Given the description of an element on the screen output the (x, y) to click on. 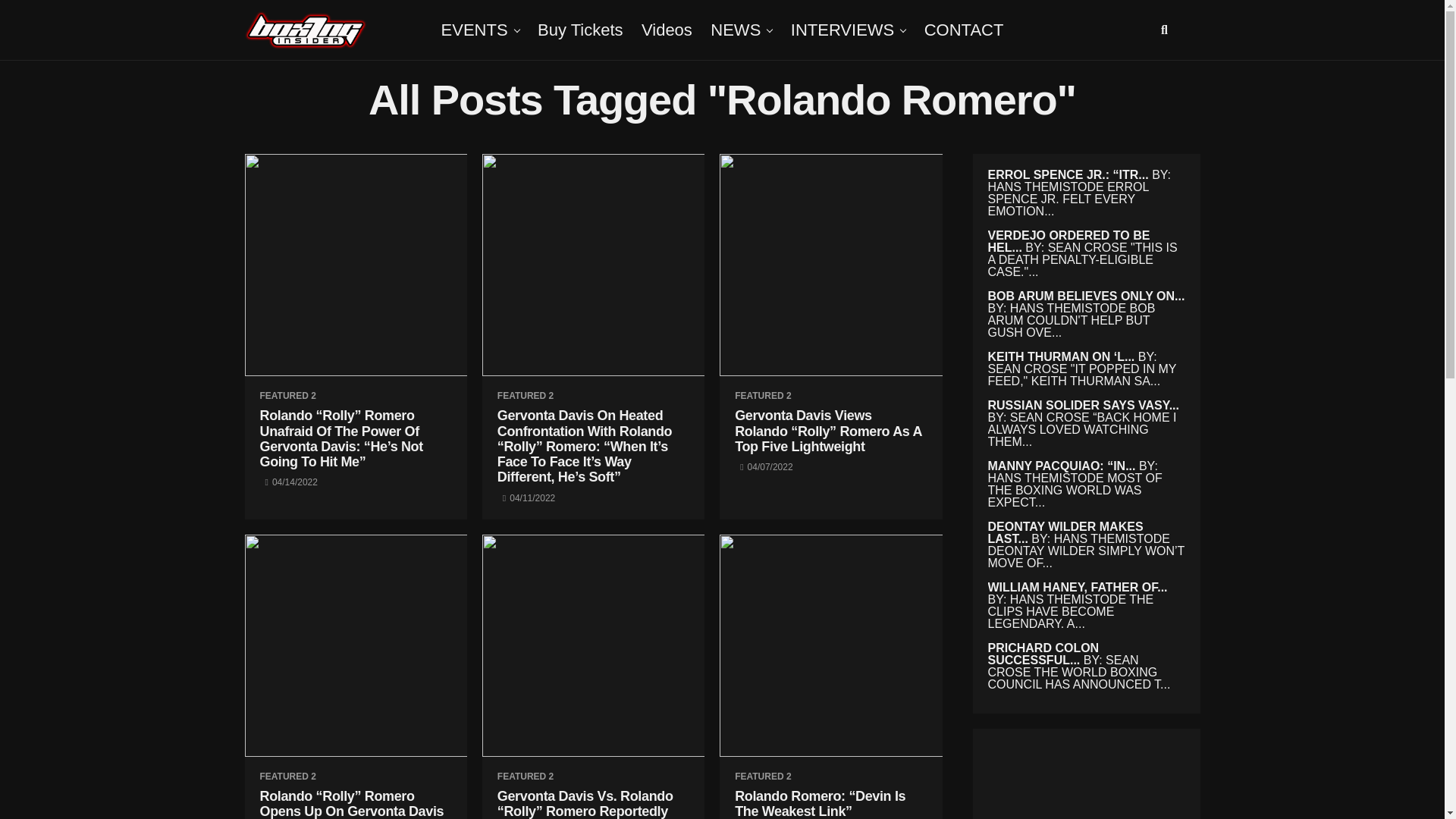
INTERVIEWS (842, 30)
Buy Tickets (579, 30)
Videos (666, 30)
NEWS (735, 30)
EVENTS (474, 30)
CONTACT (964, 30)
